Given the description of an element on the screen output the (x, y) to click on. 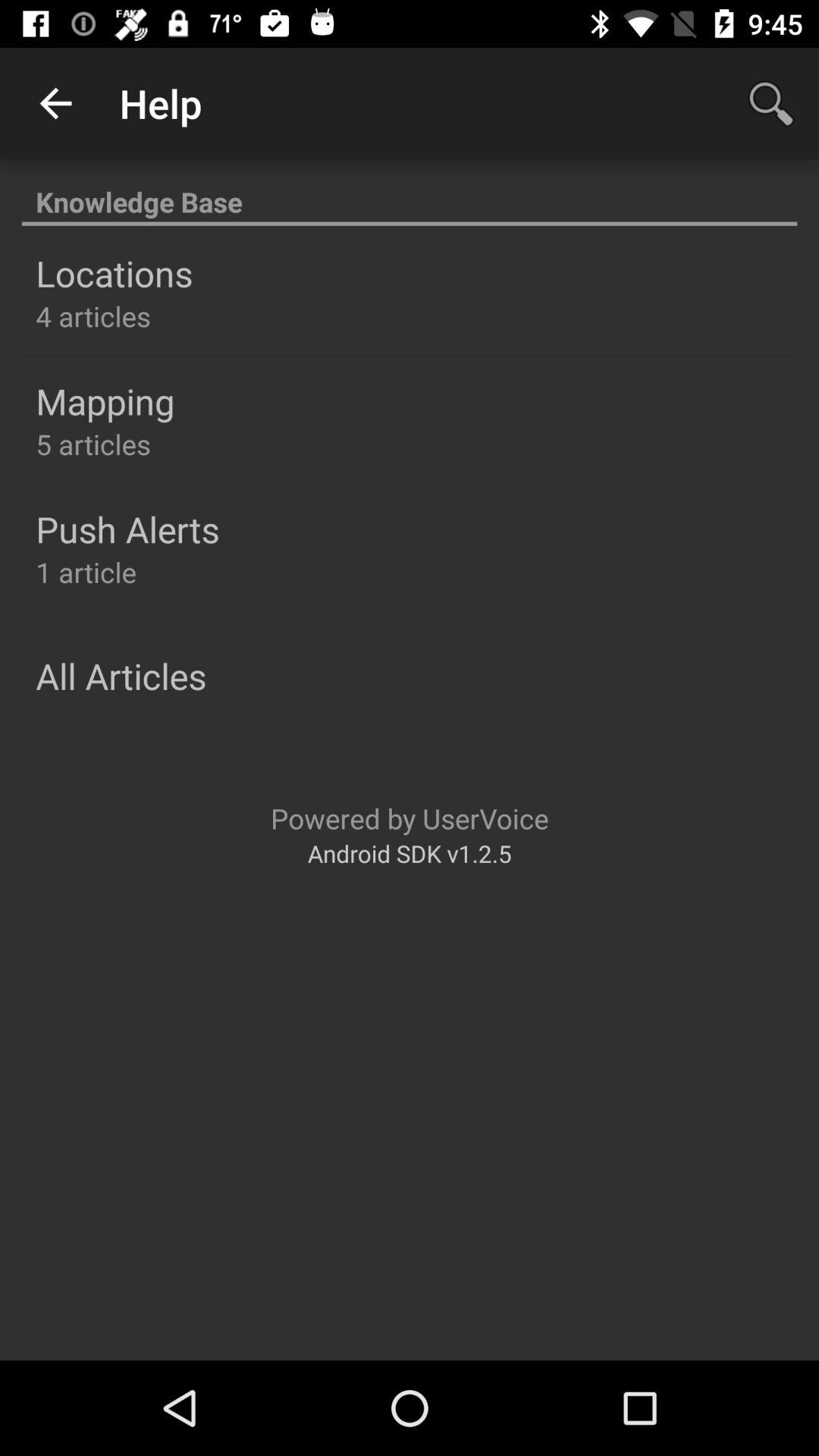
launch 5 articles icon (92, 443)
